Given the description of an element on the screen output the (x, y) to click on. 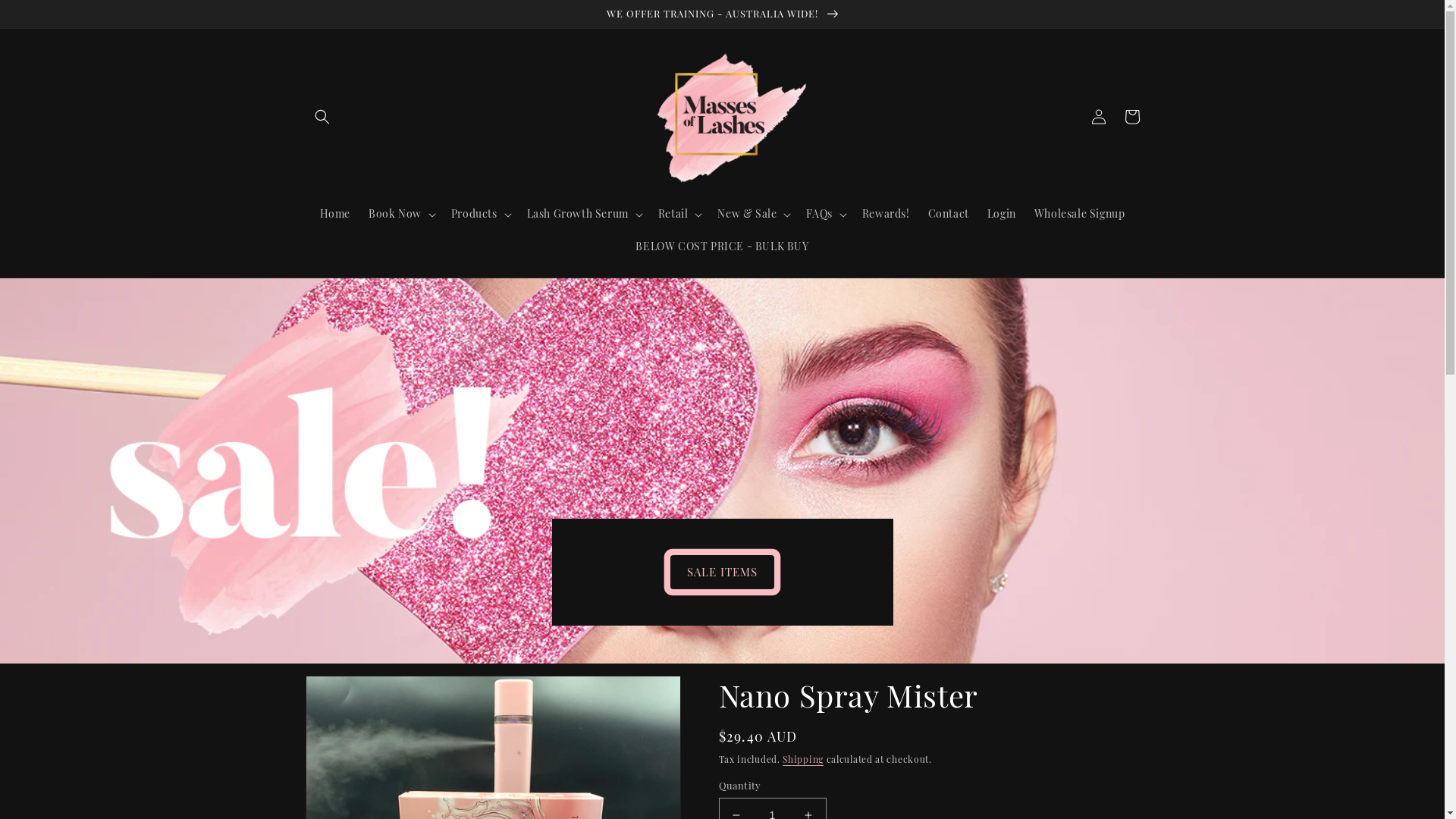
BELOW COST PRICE - BULK BUY Element type: text (721, 246)
Rewards! Element type: text (886, 213)
Home Element type: text (334, 213)
Contact Element type: text (948, 213)
SALE ITEMS Element type: text (722, 572)
Skip to product information Element type: text (355, 697)
Shipping Element type: text (802, 759)
Log in Element type: text (1097, 116)
Login Element type: text (1001, 213)
Cart Element type: text (1131, 116)
Wholesale Signup Element type: text (1079, 213)
WE OFFER TRAINING - AUSTRALIA WIDE! Element type: text (722, 14)
